Given the description of an element on the screen output the (x, y) to click on. 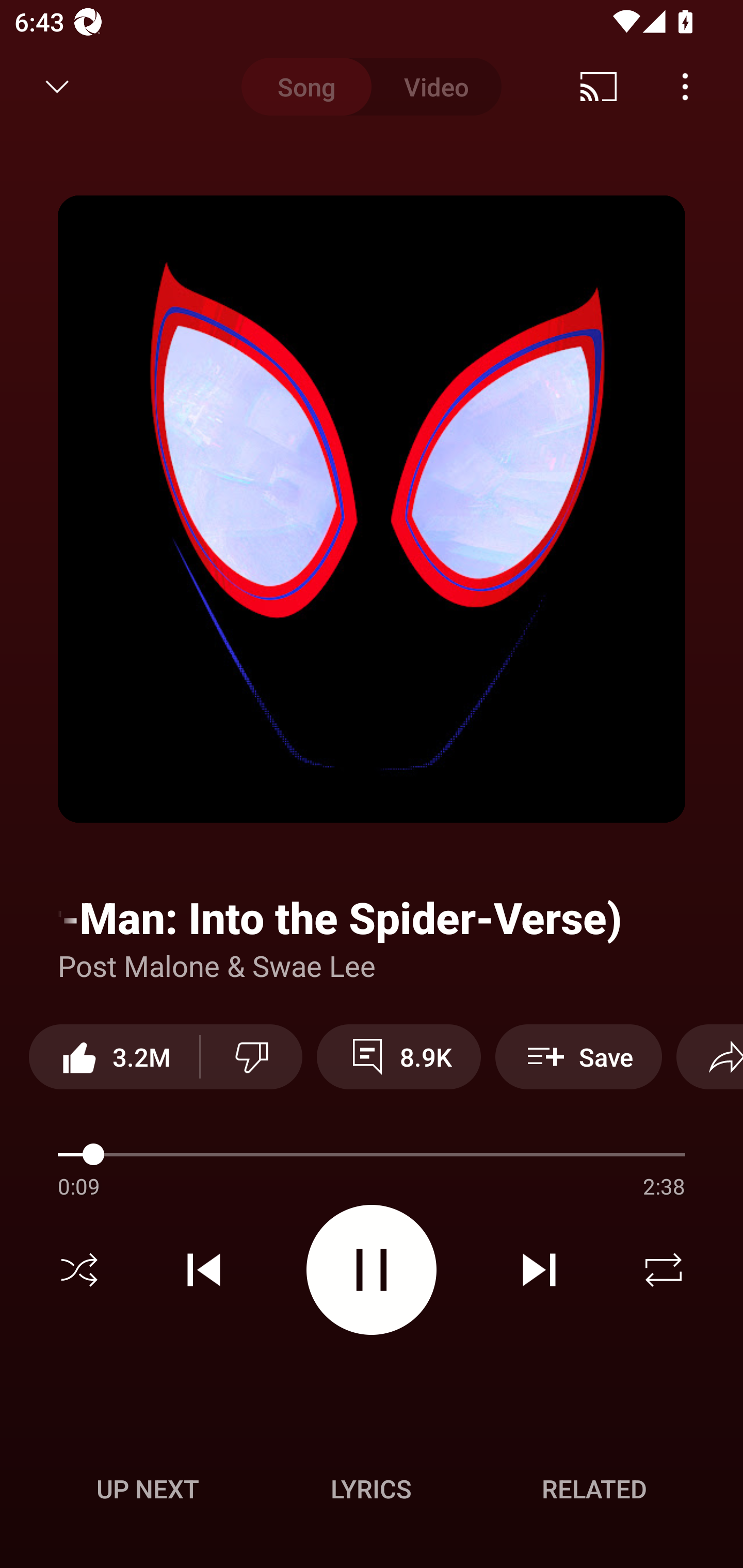
Minimize (57, 86)
Cast. Disconnected (598, 86)
Menu (684, 86)
Dislike (251, 1056)
8.9K View 8,905 comments (398, 1056)
Save Save to playlist (578, 1056)
Share (709, 1056)
Pause video (371, 1269)
Shuffle off (79, 1269)
Previous track (203, 1269)
Next track (538, 1269)
Repeat off (663, 1269)
Up next UP NEXT Lyrics LYRICS Related RELATED (371, 1491)
Lyrics LYRICS (370, 1488)
Related RELATED (594, 1488)
